Given the description of an element on the screen output the (x, y) to click on. 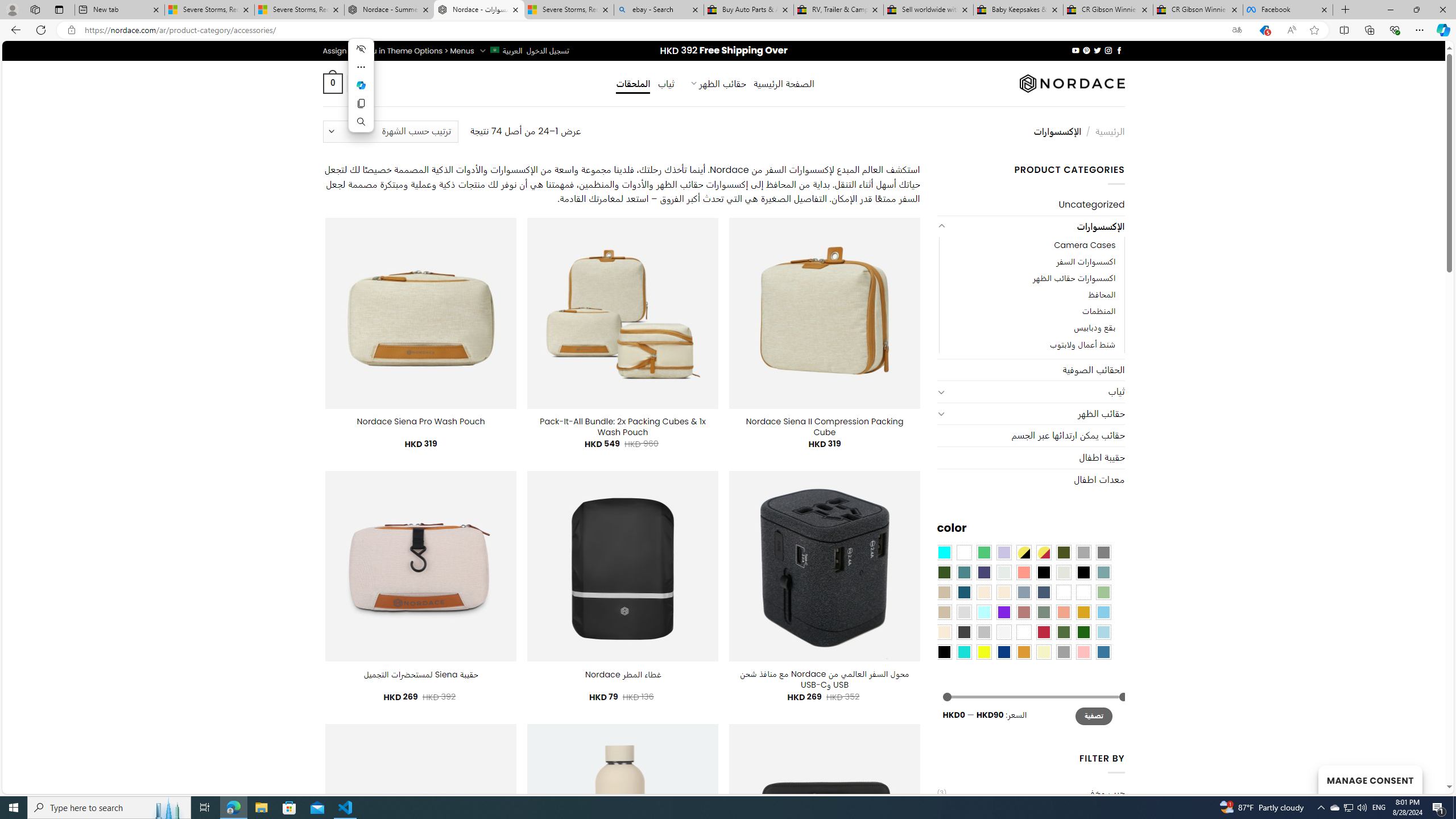
More actions (360, 67)
Settings and more (Alt+F) (1419, 29)
Dull Nickle (1003, 572)
Workspaces (34, 9)
Blue Sage (1103, 572)
Facebook (1287, 9)
